Given the description of an element on the screen output the (x, y) to click on. 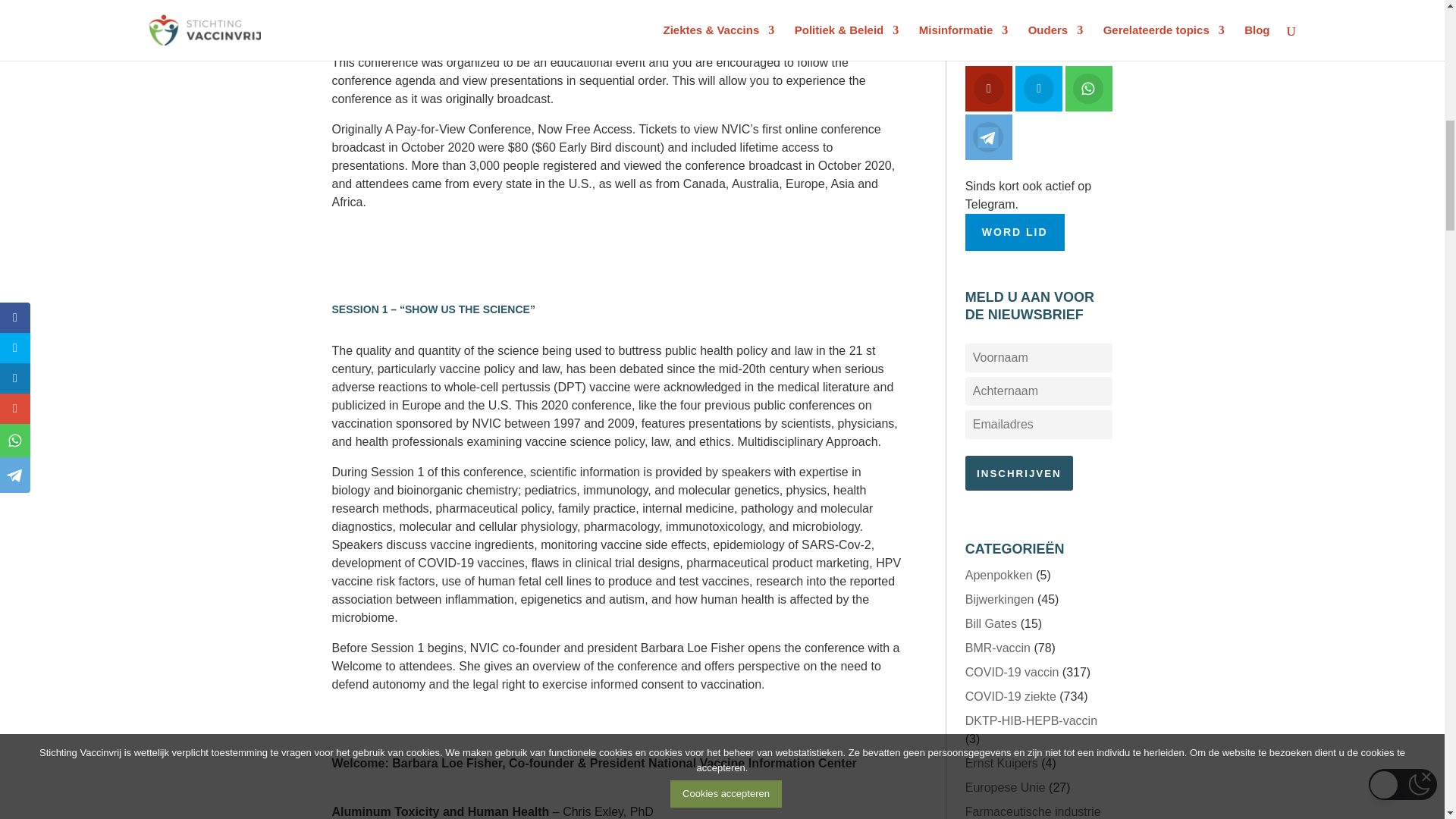
Inschrijven (1019, 472)
